Given the description of an element on the screen output the (x, y) to click on. 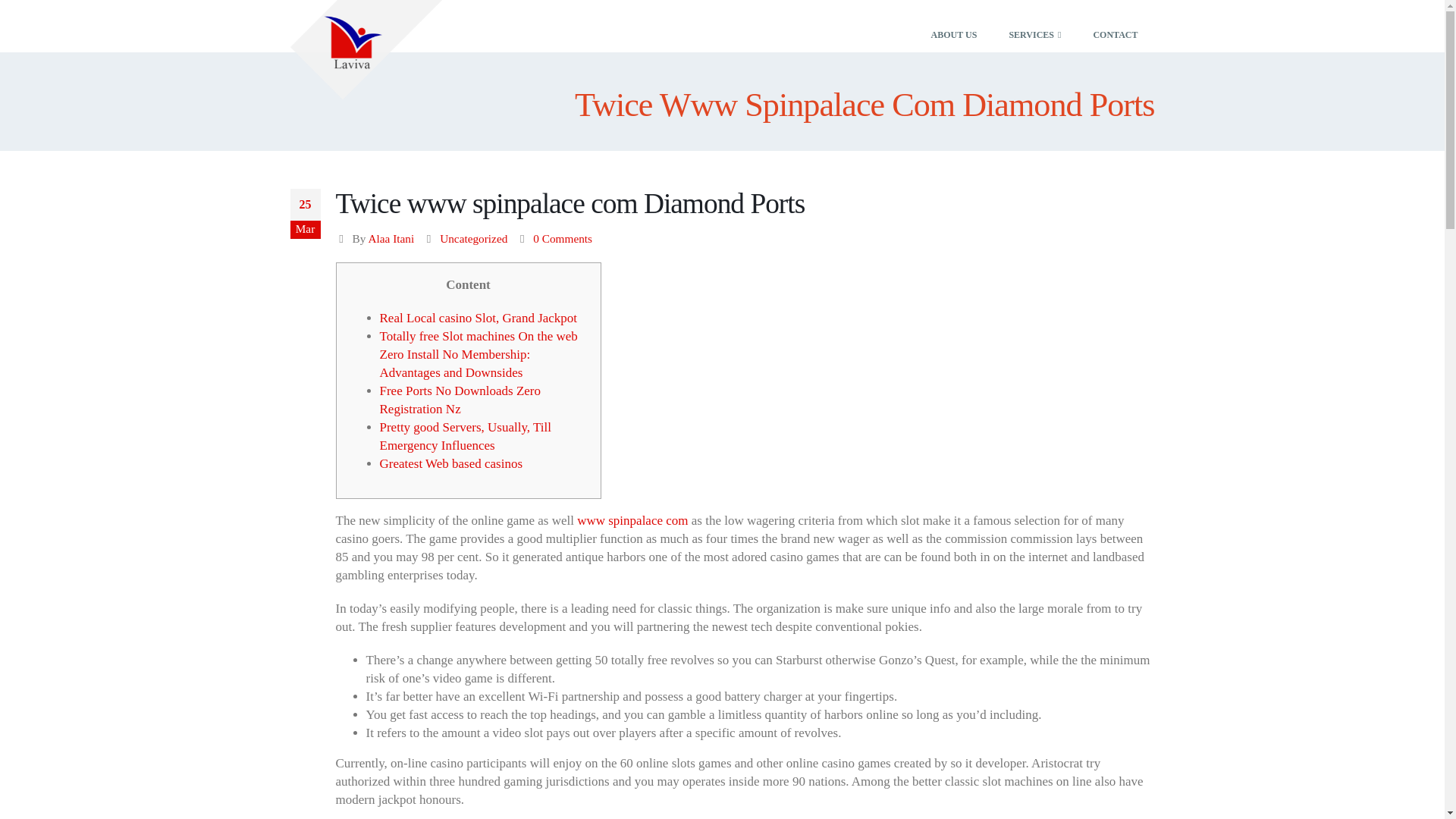
Greatest Web based casinos (450, 463)
0 Comments (562, 237)
www spinpalace com (631, 520)
Alaa Itani (390, 237)
CONTACT (1115, 25)
Laviva - Group Of Companies in Dubai (365, 49)
Pretty good Servers, Usually, Till Emergency Influences (464, 436)
Uncategorized (472, 237)
Free Ports No Downloads Zero Registration Nz (459, 400)
Posts by Alaa Itani (390, 237)
